Given the description of an element on the screen output the (x, y) to click on. 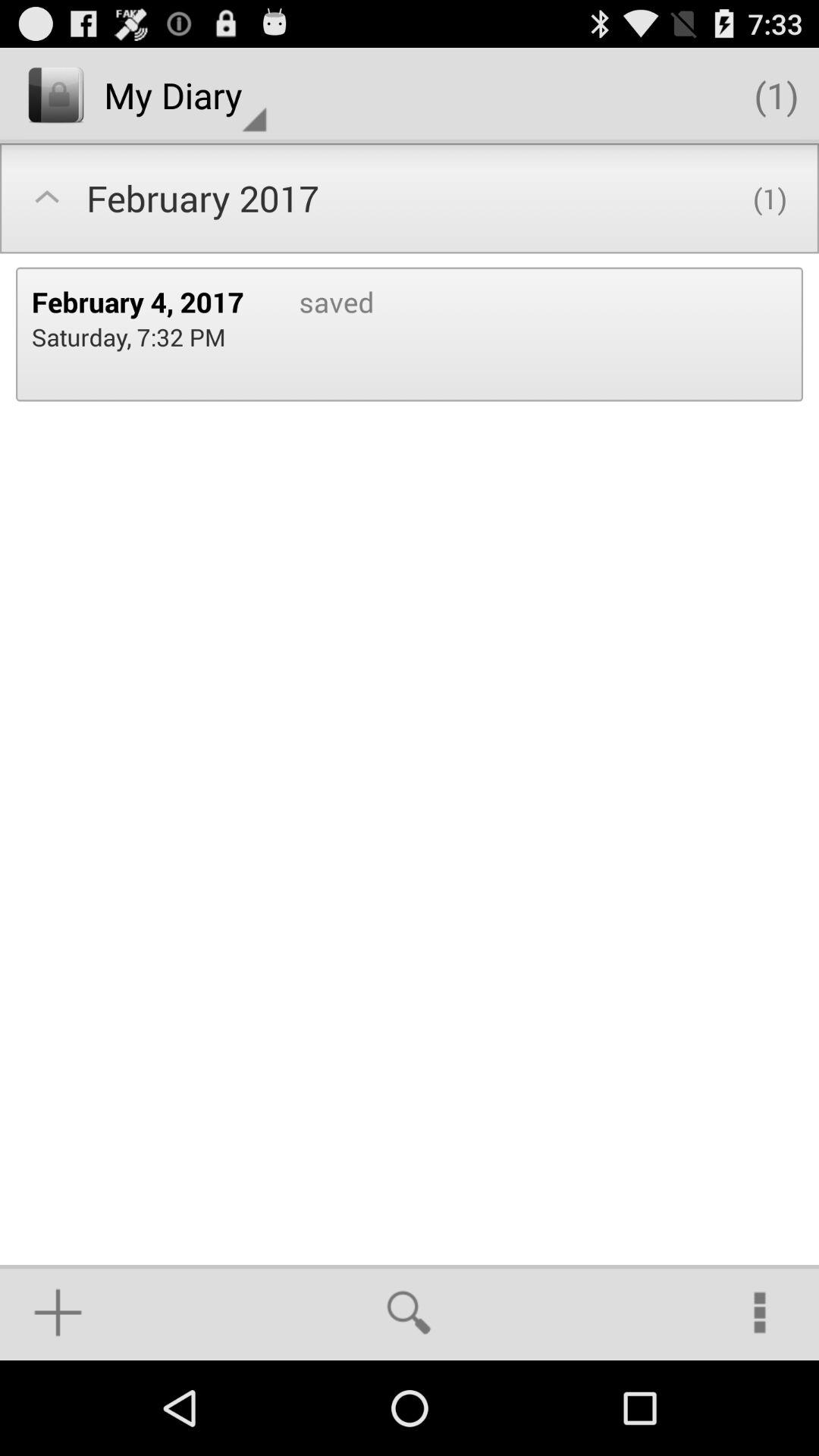
turn on item next to (1) icon (185, 95)
